Given the description of an element on the screen output the (x, y) to click on. 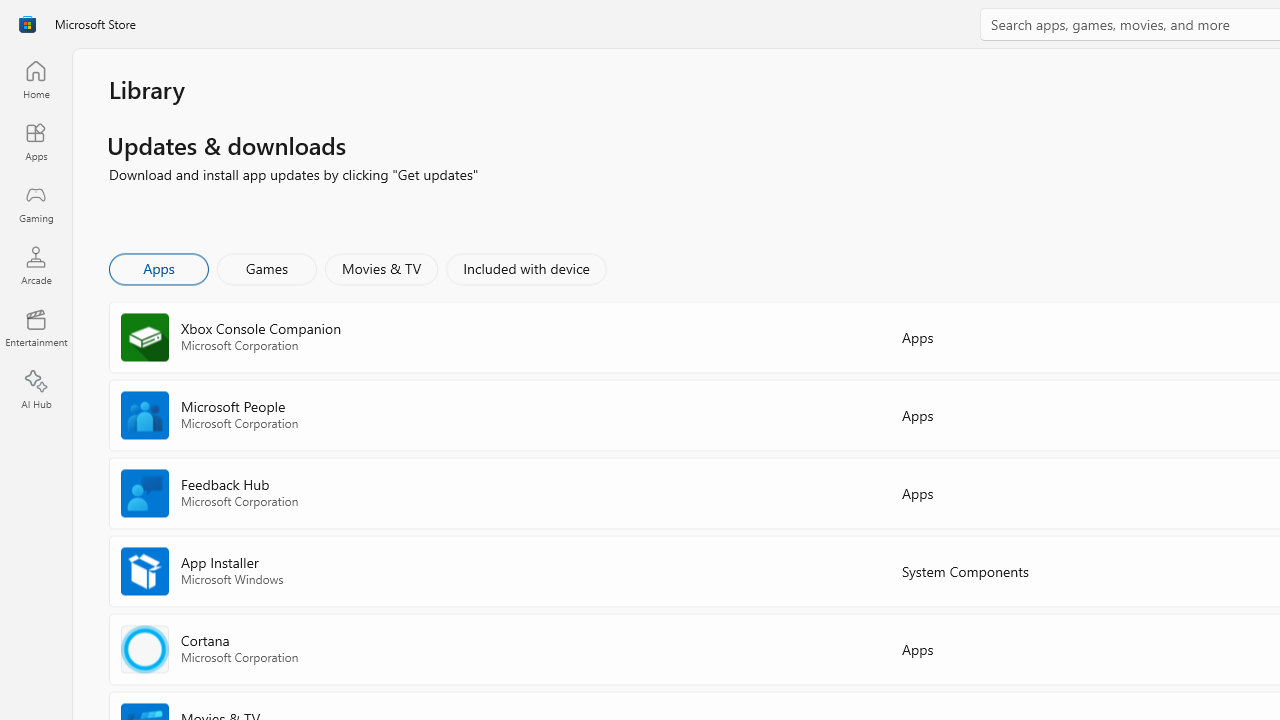
Class: Image (27, 24)
Arcade (35, 265)
AI Hub (35, 390)
Gaming (35, 203)
Included with device (525, 268)
Apps (158, 268)
Games (267, 268)
Home (35, 79)
Entertainment (35, 327)
Apps (35, 141)
Movies & TV (381, 268)
